Given the description of an element on the screen output the (x, y) to click on. 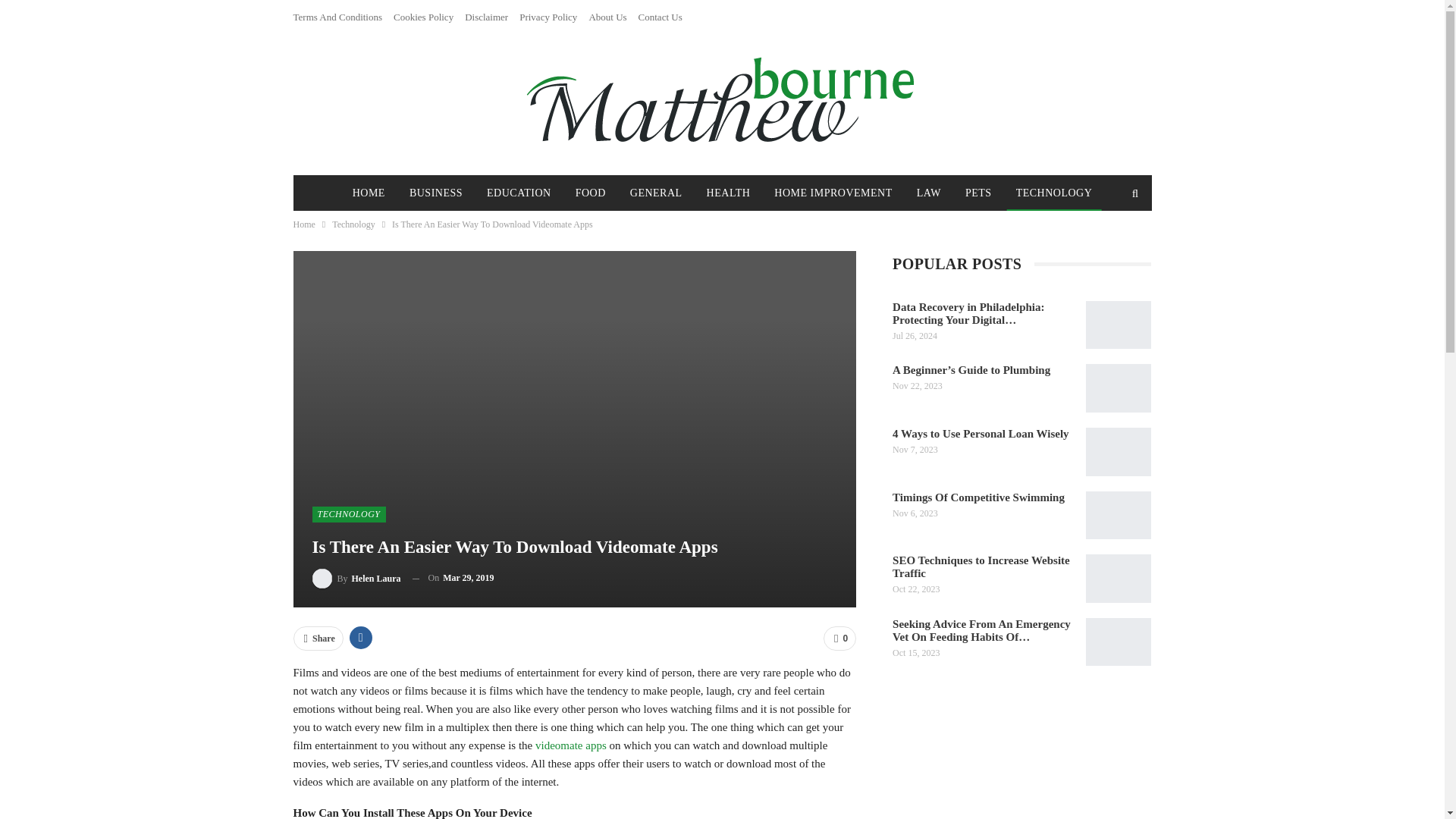
HEALTH (728, 193)
Browse Author Articles (357, 578)
Cookies Policy (422, 16)
HOME (368, 193)
PETS (978, 193)
BUSINESS (435, 193)
Privacy Policy (547, 16)
HOME IMPROVEMENT (833, 193)
GENERAL (656, 193)
